Given the description of an element on the screen output the (x, y) to click on. 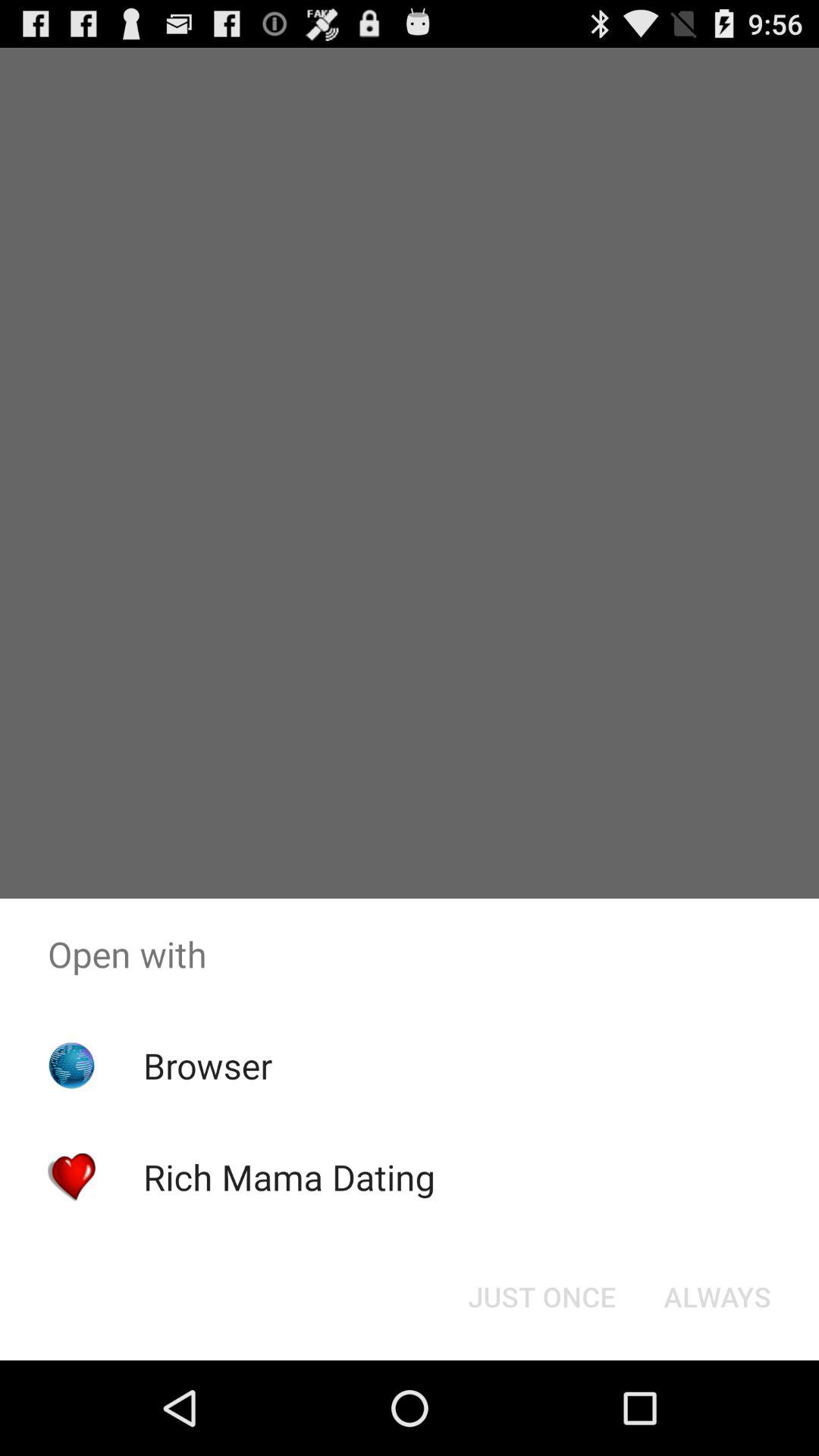
select button to the right of just once (717, 1296)
